Given the description of an element on the screen output the (x, y) to click on. 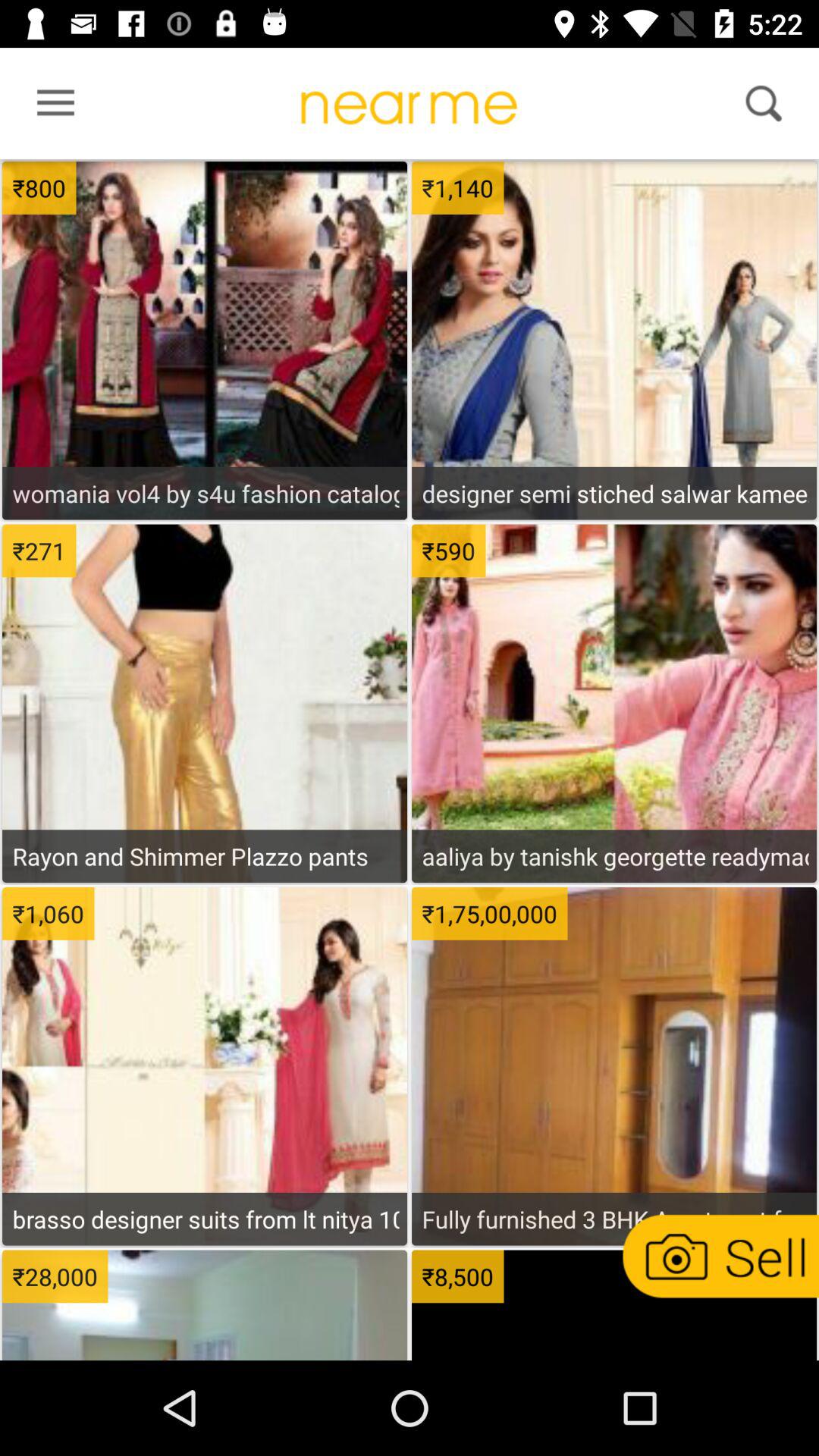
add picture (719, 1255)
